Given the description of an element on the screen output the (x, y) to click on. 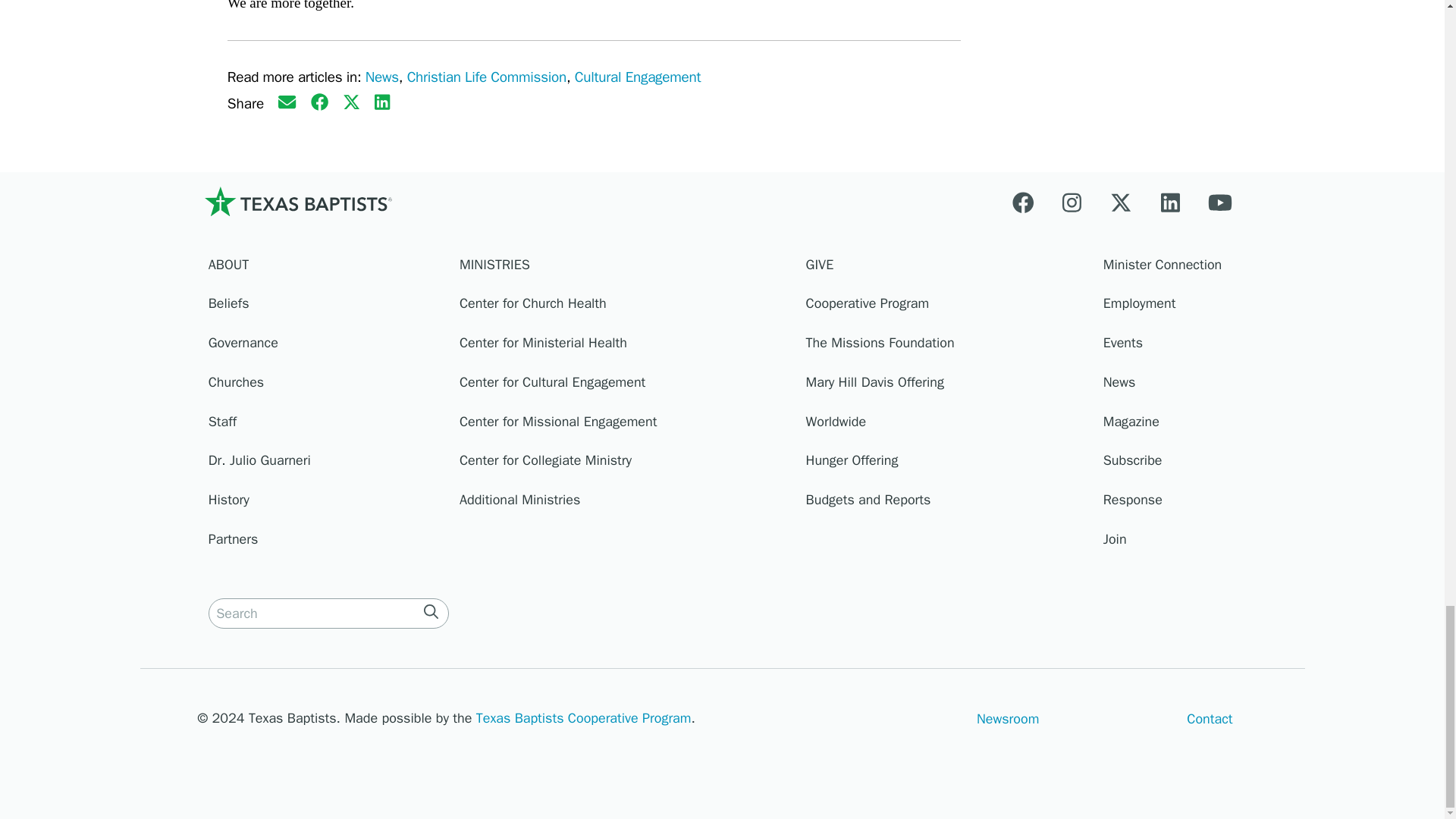
Beliefs (326, 307)
Home (297, 201)
Cultural Engagement (637, 76)
News (381, 76)
ABOUT (326, 268)
Christian Life Commission (486, 76)
